Given the description of an element on the screen output the (x, y) to click on. 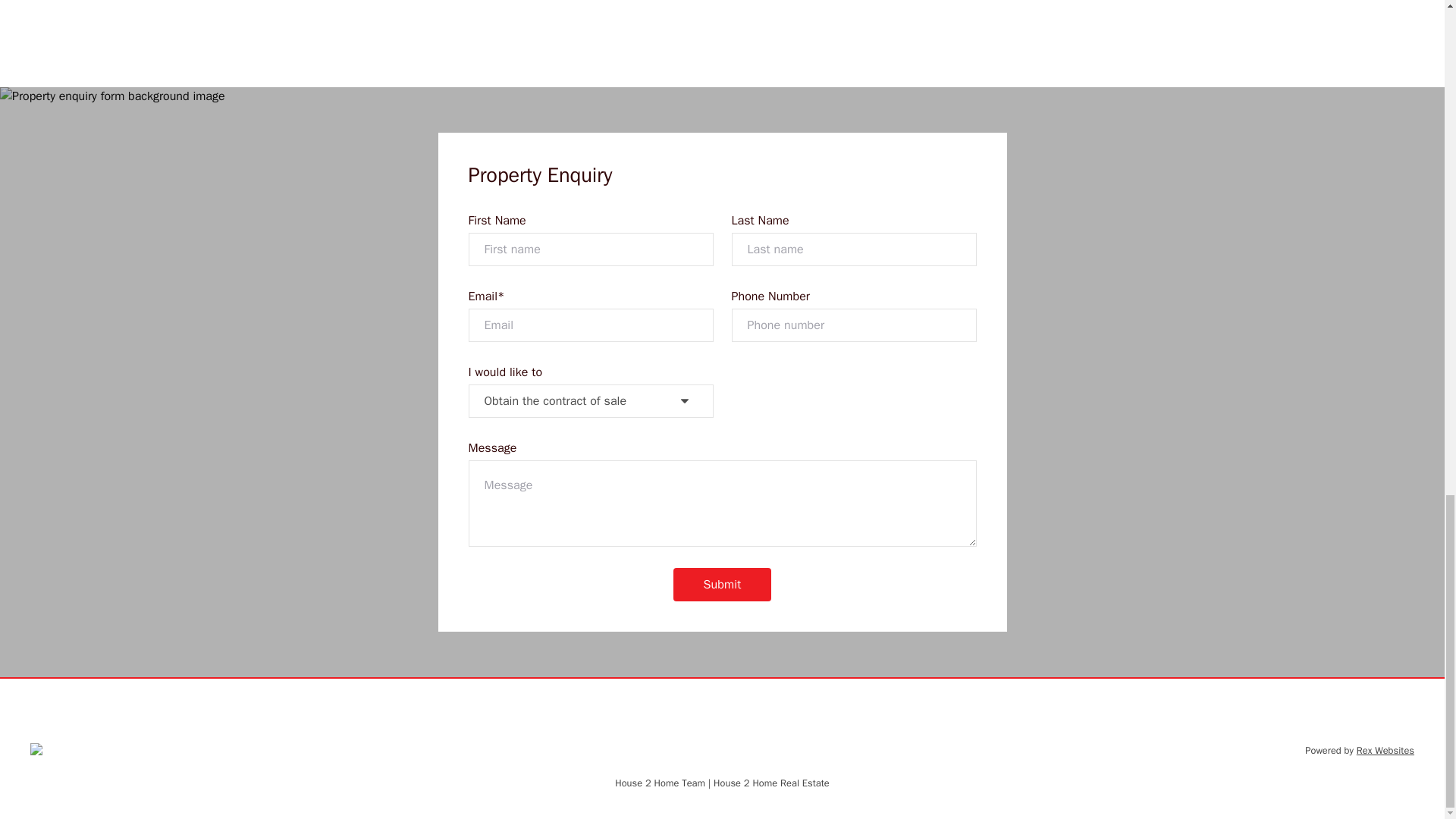
Leaflet (881, 43)
Submit (721, 584)
A JavaScript library for interactive maps (881, 43)
Rex Websites (1384, 750)
